Given the description of an element on the screen output the (x, y) to click on. 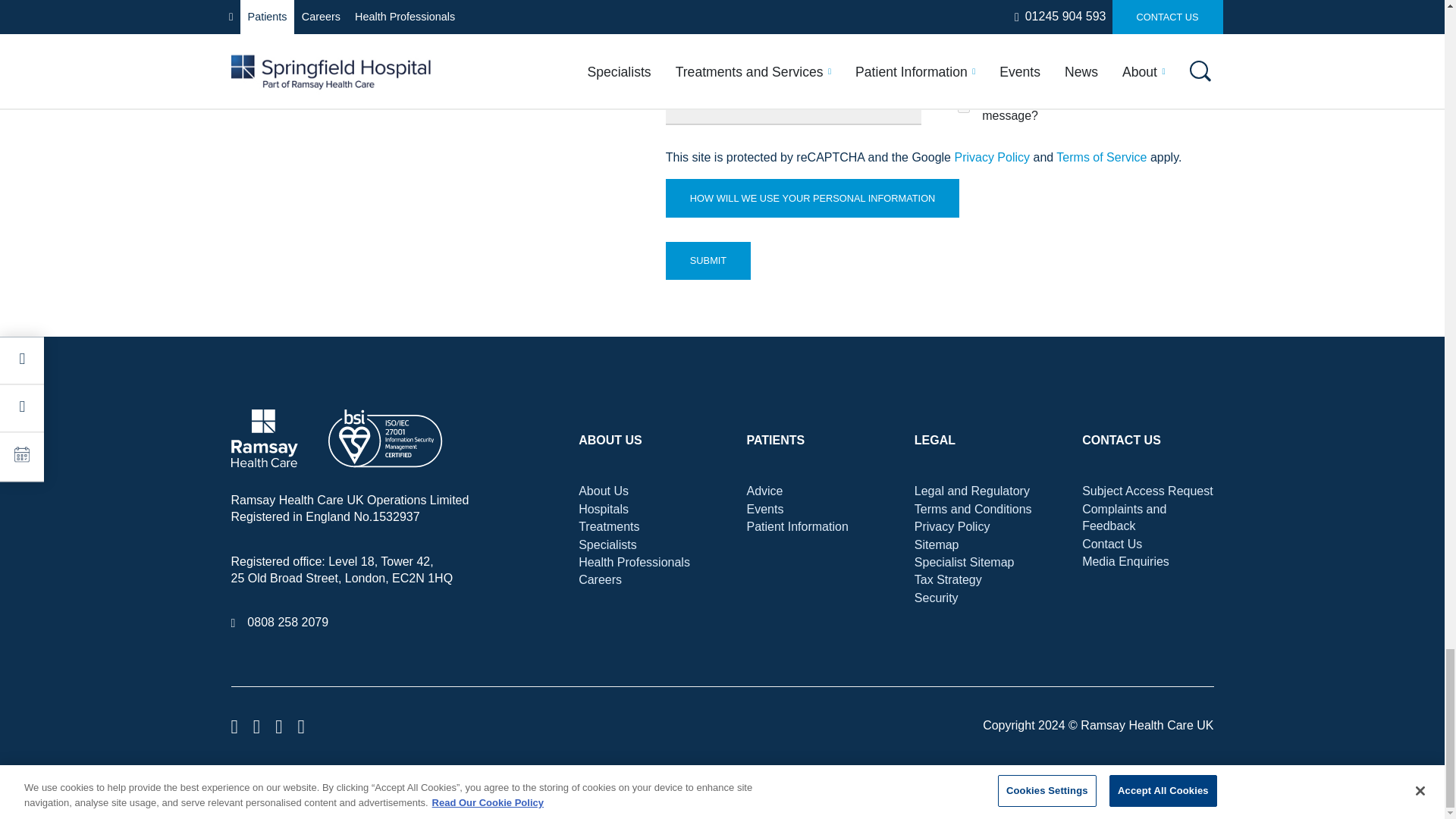
on (963, 106)
Submit (708, 260)
